Given the description of an element on the screen output the (x, y) to click on. 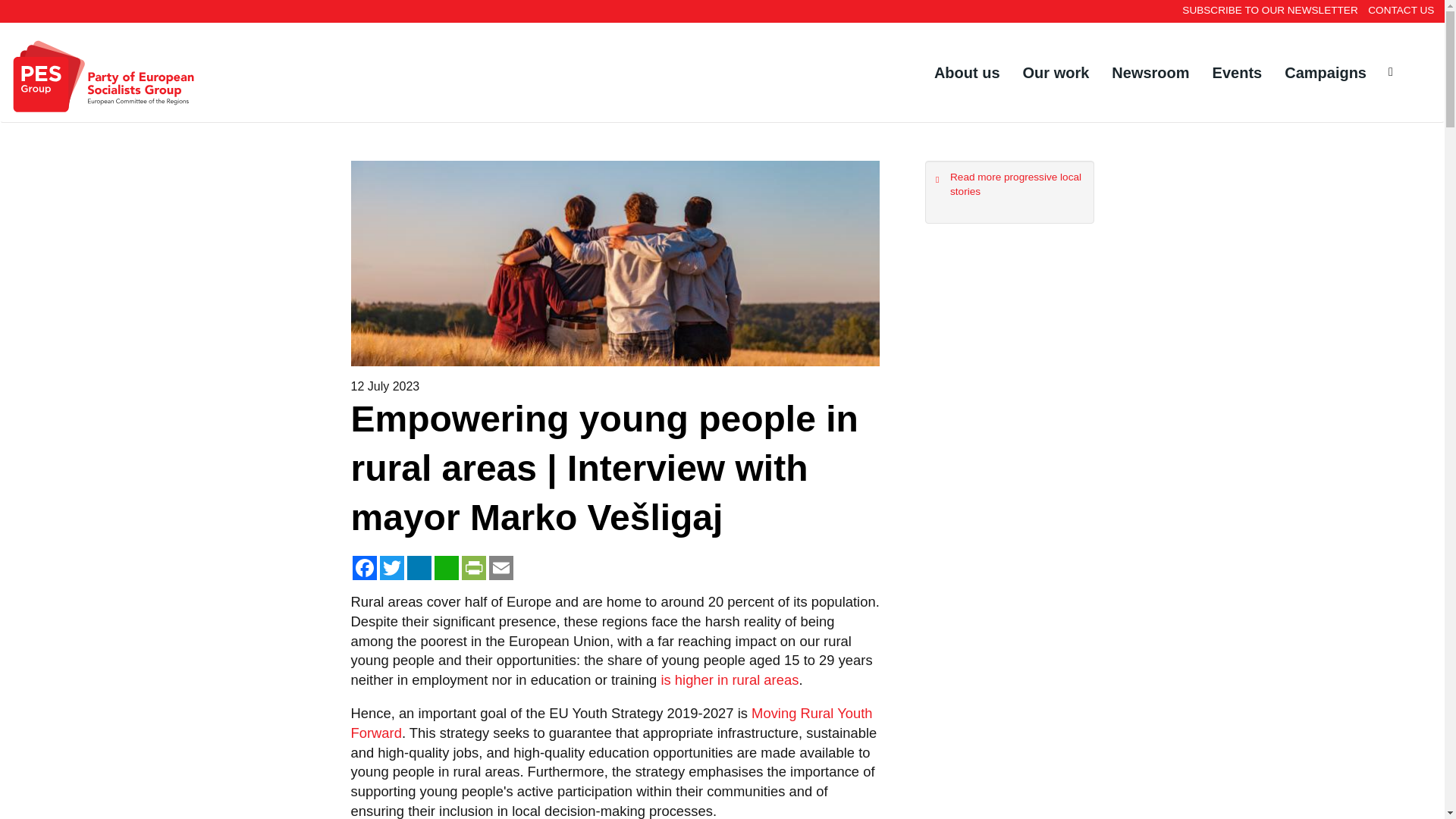
LinkedIn (418, 566)
SUBSCRIBE TO OUR NEWSLETTER (1275, 9)
Facebook (363, 566)
Our work (1055, 72)
About us (967, 72)
Search (11, 12)
Print (473, 566)
is higher in rural areas (729, 679)
WhatsApp (446, 566)
Twitter (390, 566)
